Given the description of an element on the screen output the (x, y) to click on. 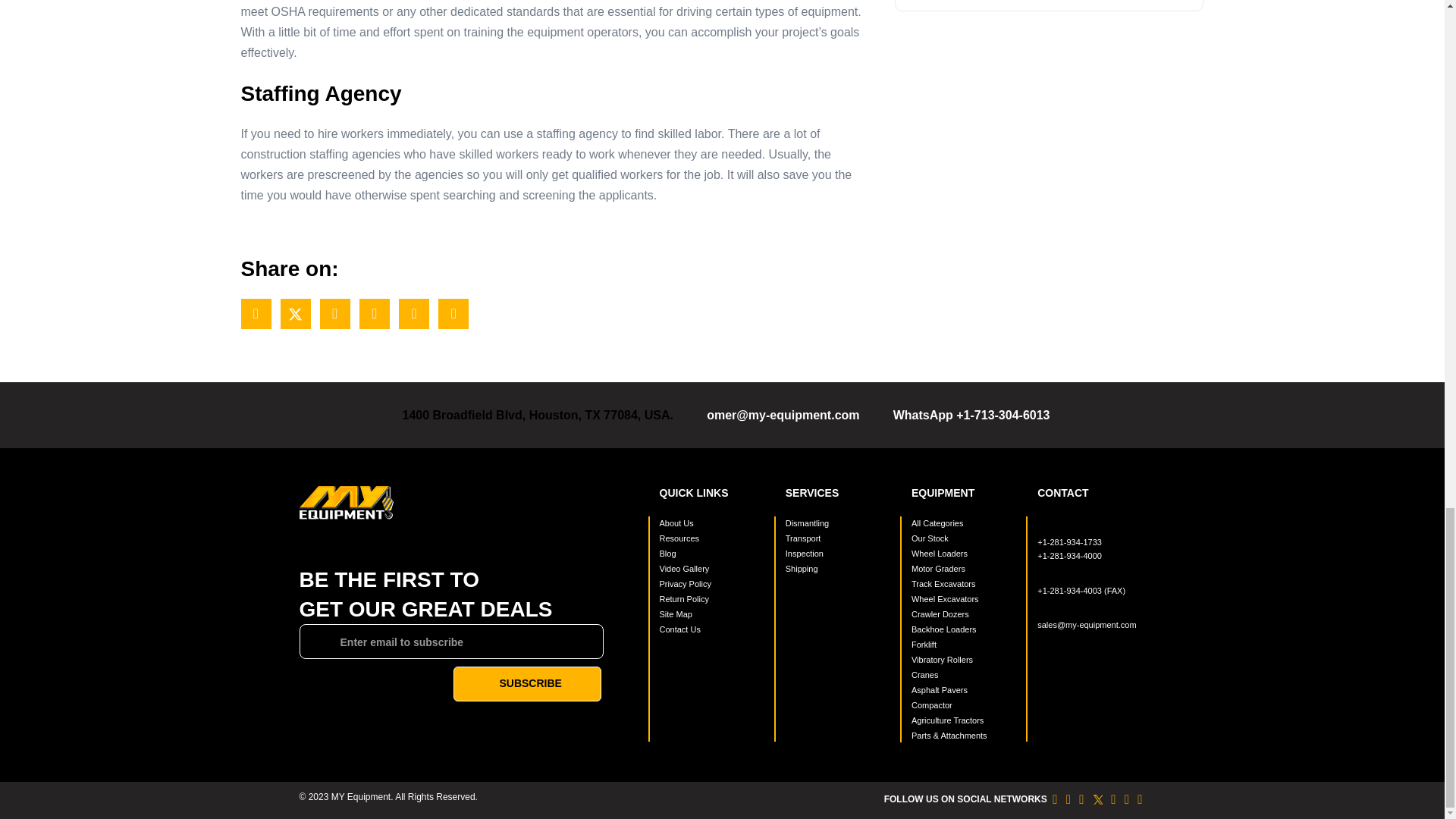
Motor Graders (965, 568)
Wheel Loaders (965, 553)
Backhoe Loaders (965, 629)
Forklift (965, 644)
Crawler Dozers (965, 613)
Track Excavators (965, 583)
Wheel Excavators (965, 599)
